Given the description of an element on the screen output the (x, y) to click on. 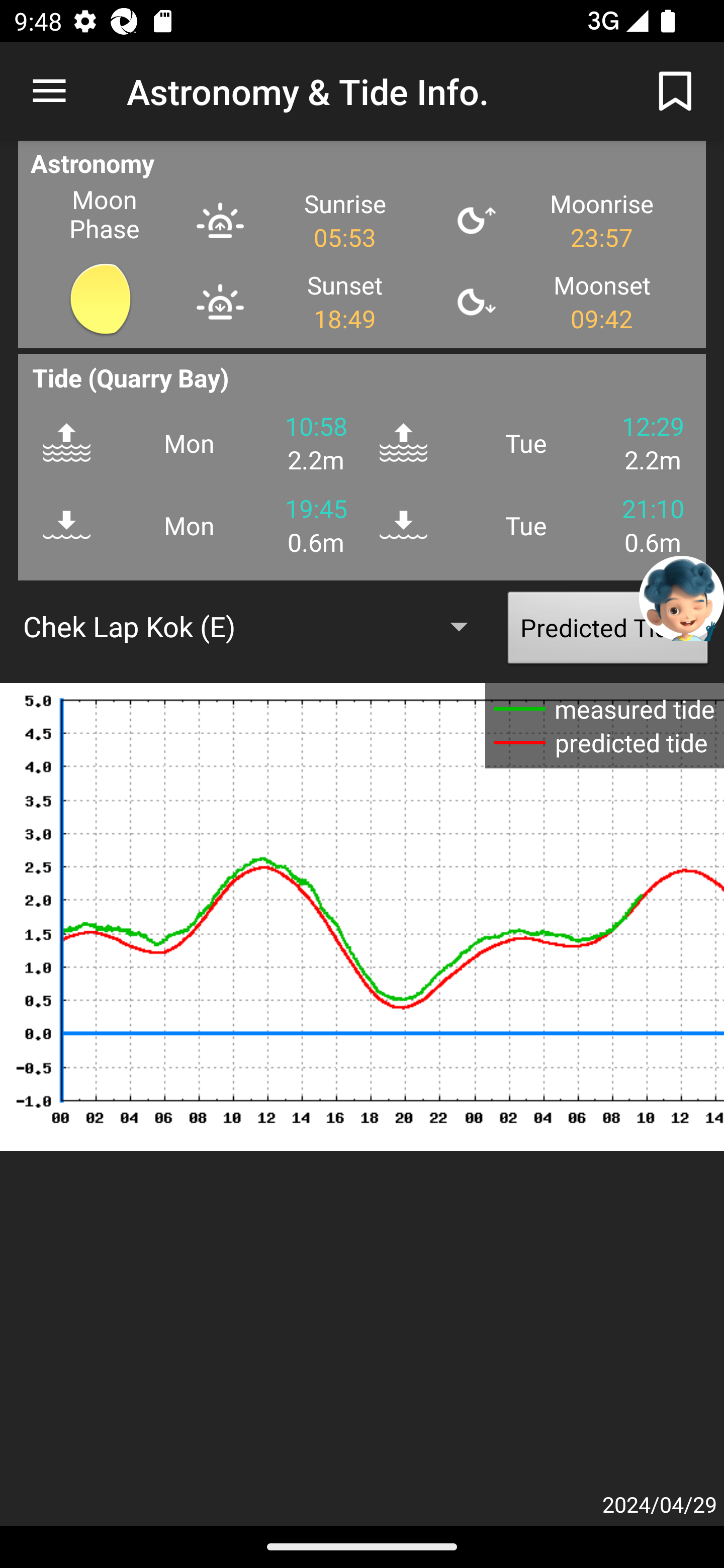
Navigate up (49, 91)
Bookmark not added (674, 90)
Chatbot (681, 598)
Predicted Tides (608, 631)
Chek Lap Kok (E) (254, 626)
